Given the description of an element on the screen output the (x, y) to click on. 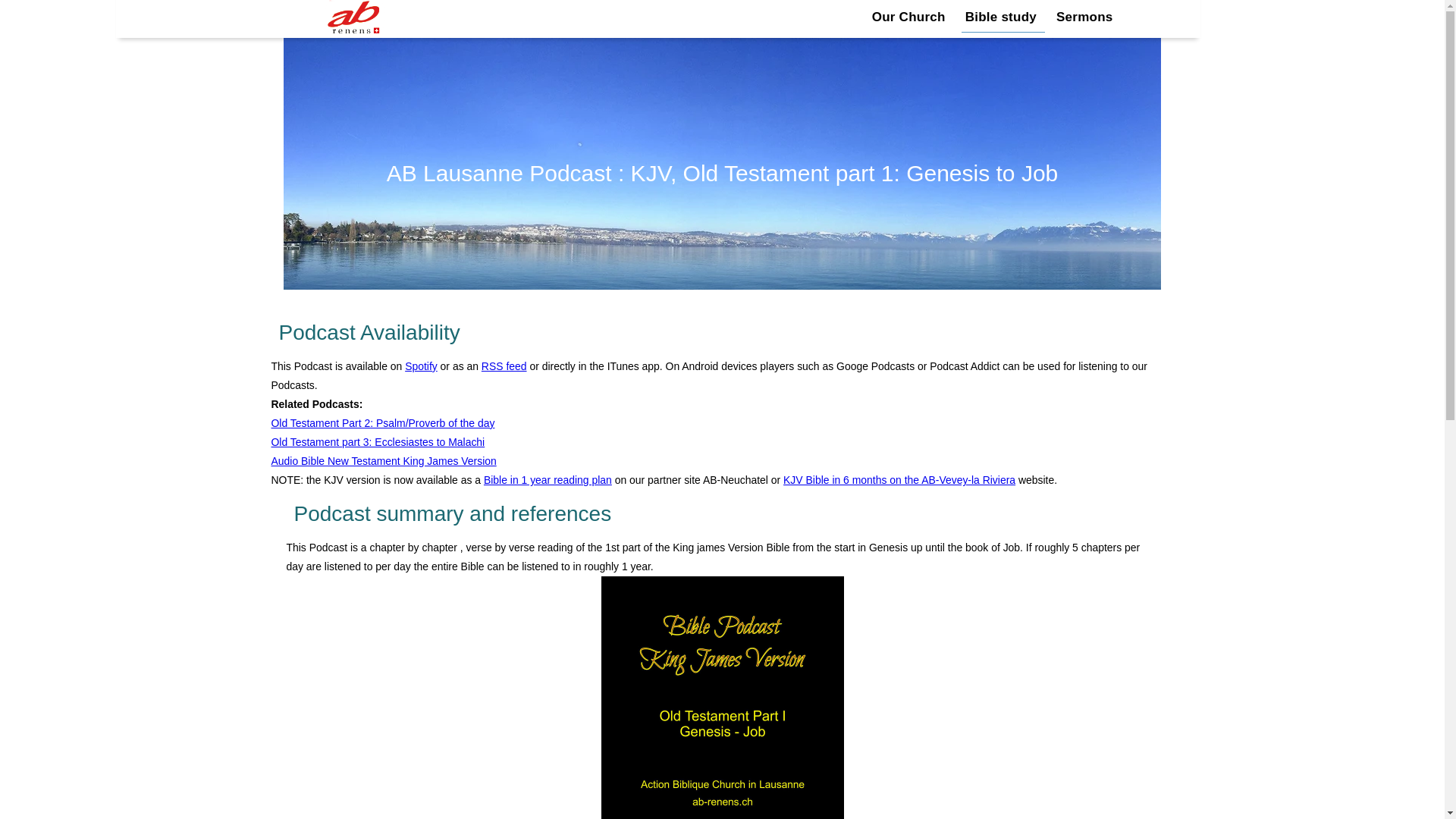
Audio Bible New Testament King James Version (383, 460)
Our Church (910, 17)
Sermons (1084, 17)
KJV Bible in 6 months on the AB-Vevey-la Riviera (898, 480)
Bible study (1002, 17)
Spotify (421, 366)
RSS feed (504, 366)
Old Testament part 3: Ecclesiastes to Malachi (377, 441)
Bible in 1 year reading plan (547, 480)
